Given the description of an element on the screen output the (x, y) to click on. 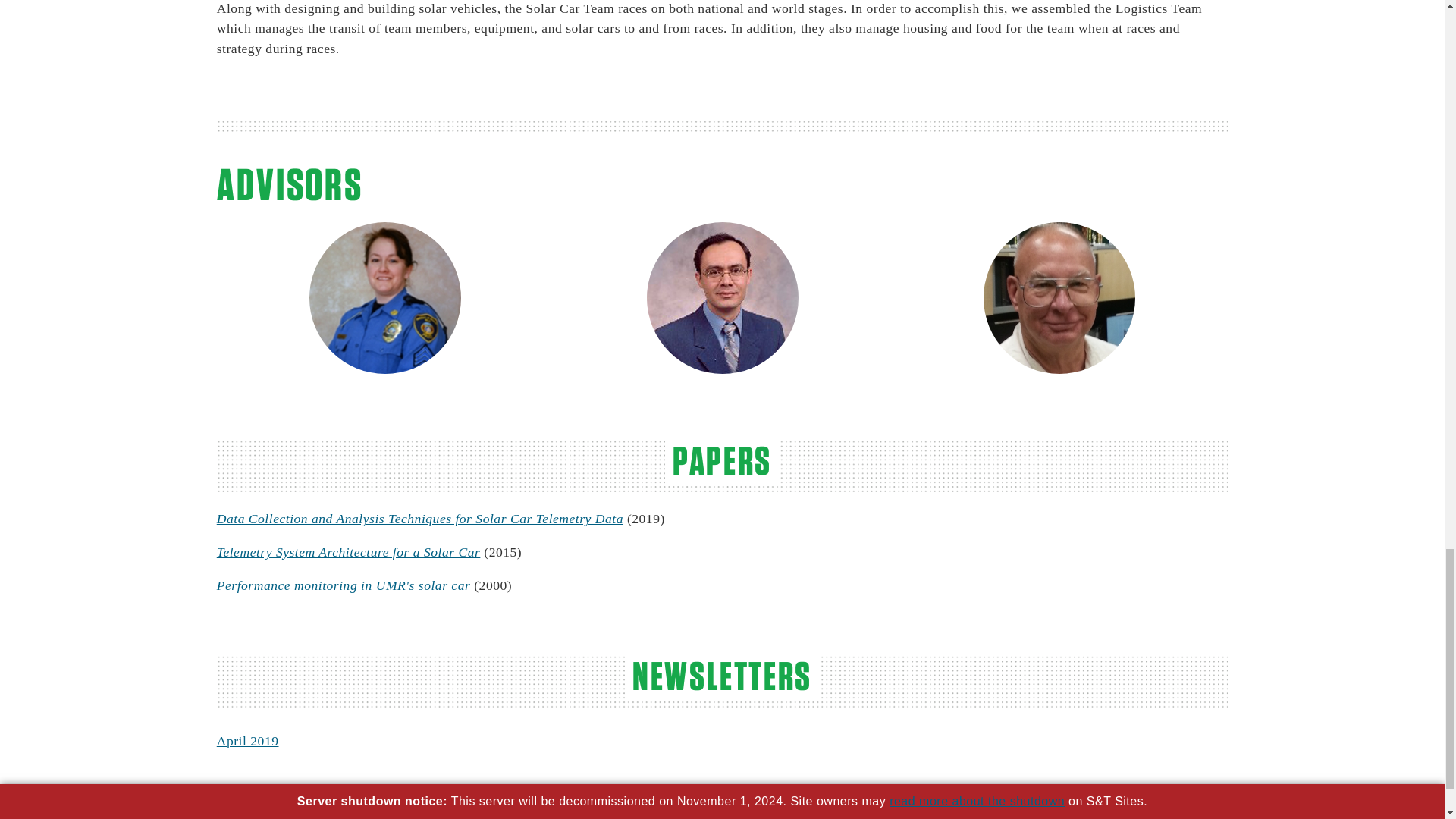
April 2019 (247, 740)
Telemetry System Architecture for a Solar Car (348, 551)
Performance monitoring in UMR's solar car (343, 585)
